Given the description of an element on the screen output the (x, y) to click on. 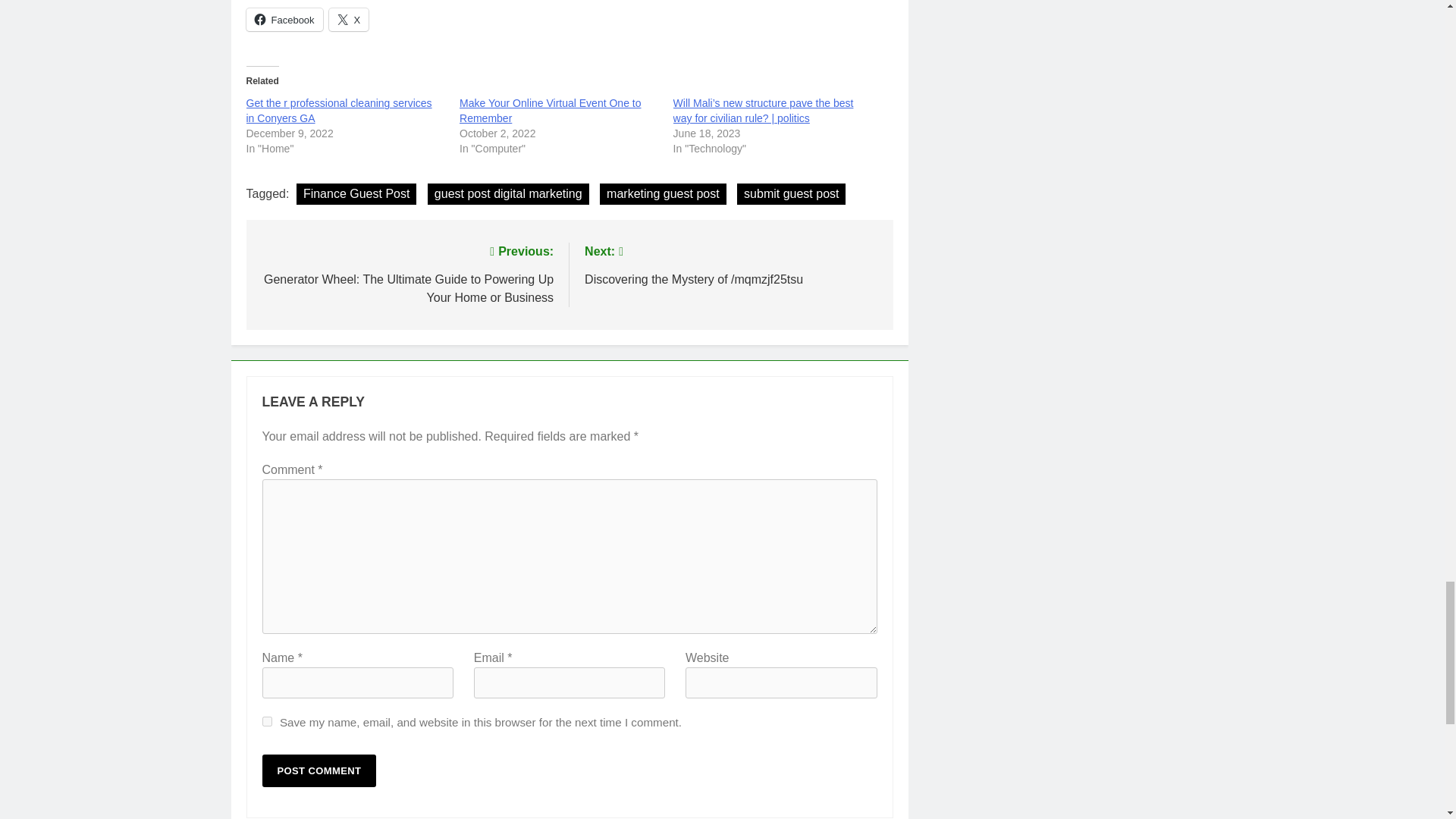
yes (267, 721)
Post Comment (319, 770)
